Given the description of an element on the screen output the (x, y) to click on. 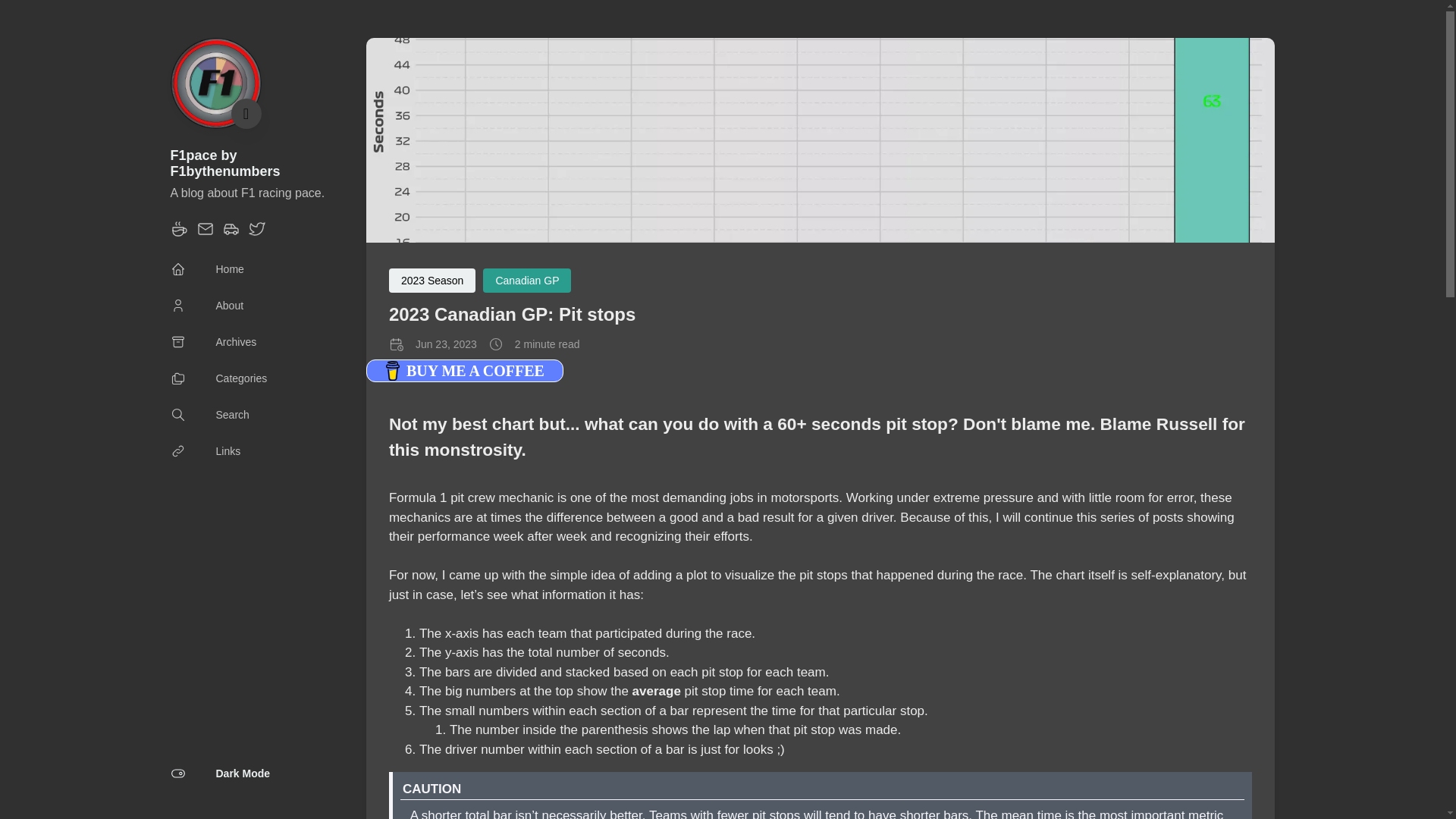
Links (205, 451)
2023 Canadian GP: Pit stops (511, 313)
Twitter (255, 233)
2023 Season (432, 280)
F1bythenumbers (230, 233)
Buymeacoffee (178, 233)
Archives (213, 341)
Email (204, 233)
BUY ME A COFFEE (464, 370)
Categories (218, 377)
